Given the description of an element on the screen output the (x, y) to click on. 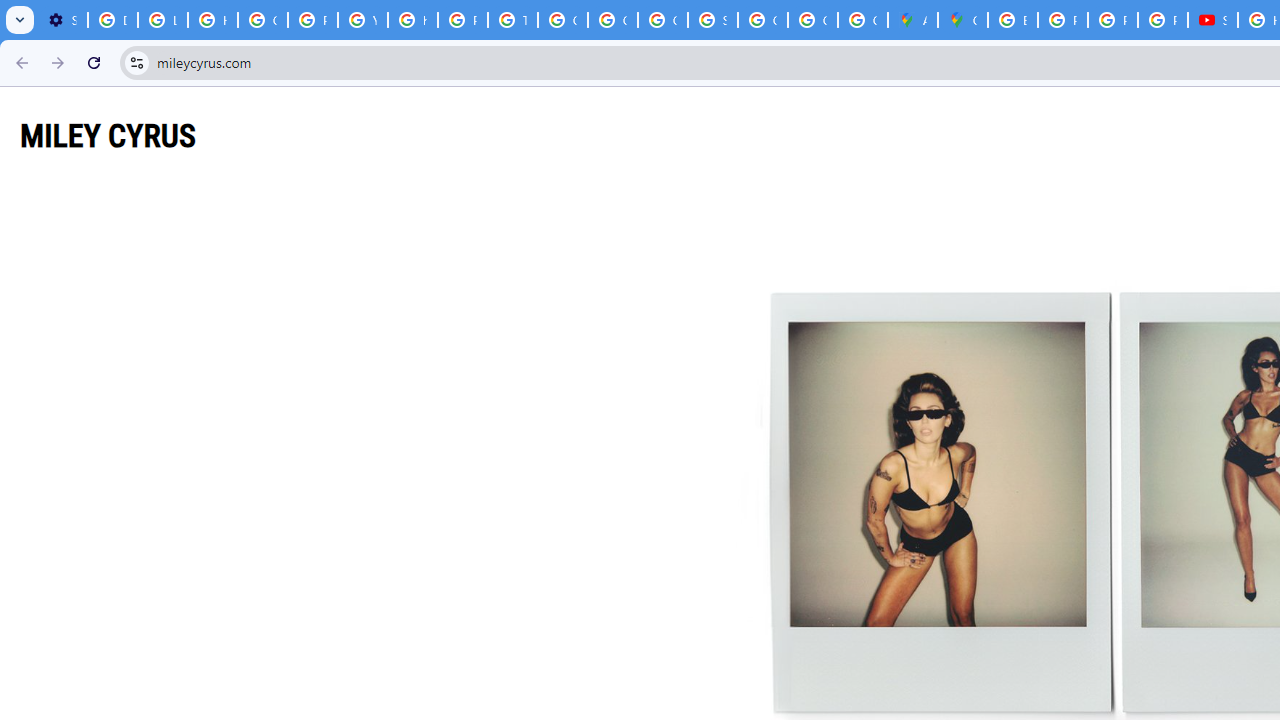
Subscriptions - YouTube (1212, 20)
Privacy Help Center - Policies Help (1062, 20)
https://scholar.google.com/ (412, 20)
MILEY CYRUS (107, 135)
Privacy Help Center - Policies Help (1112, 20)
Google Maps (963, 20)
